Given the description of an element on the screen output the (x, y) to click on. 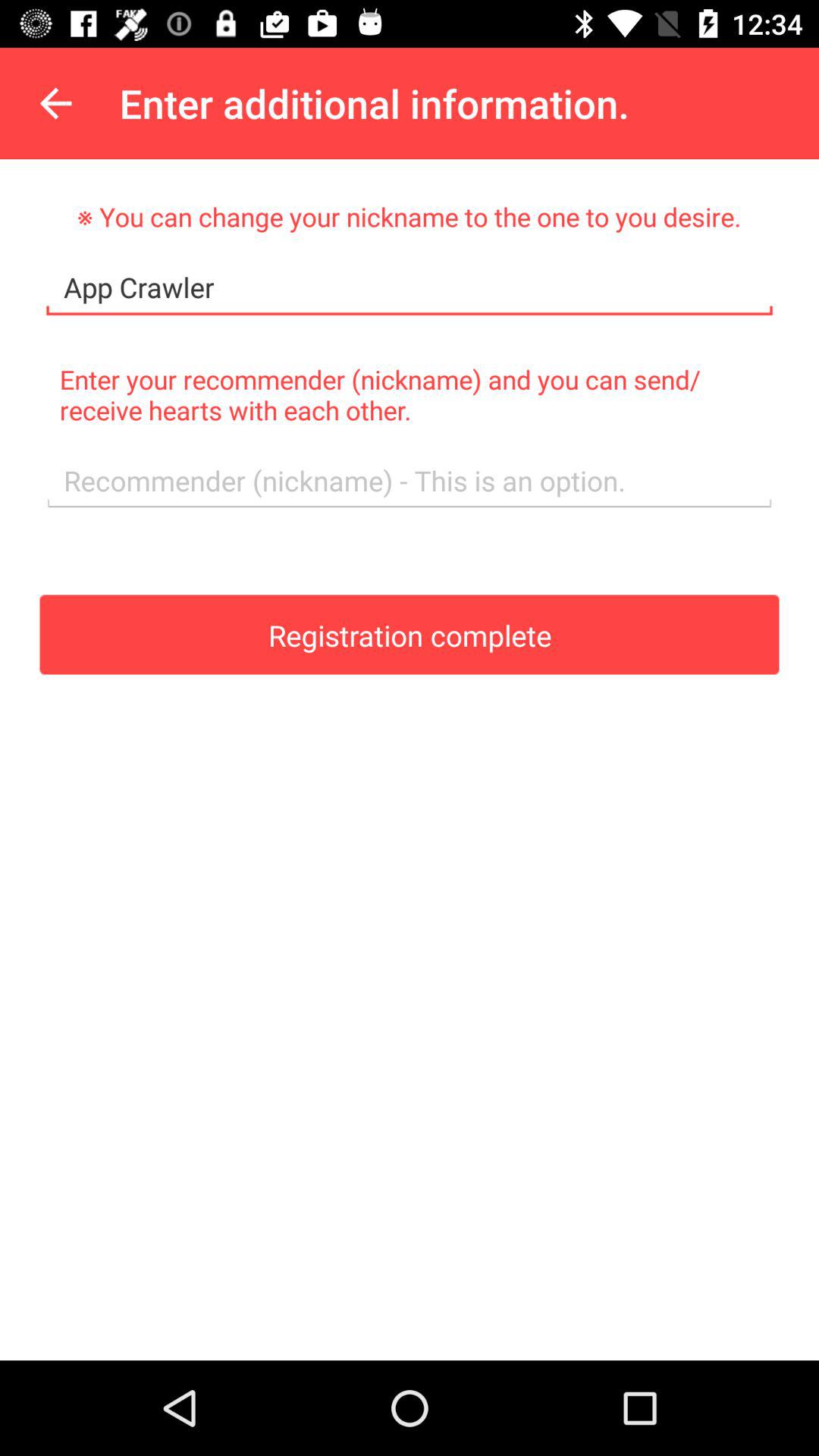
select the app to the left of the enter additional information. item (55, 103)
